Given the description of an element on the screen output the (x, y) to click on. 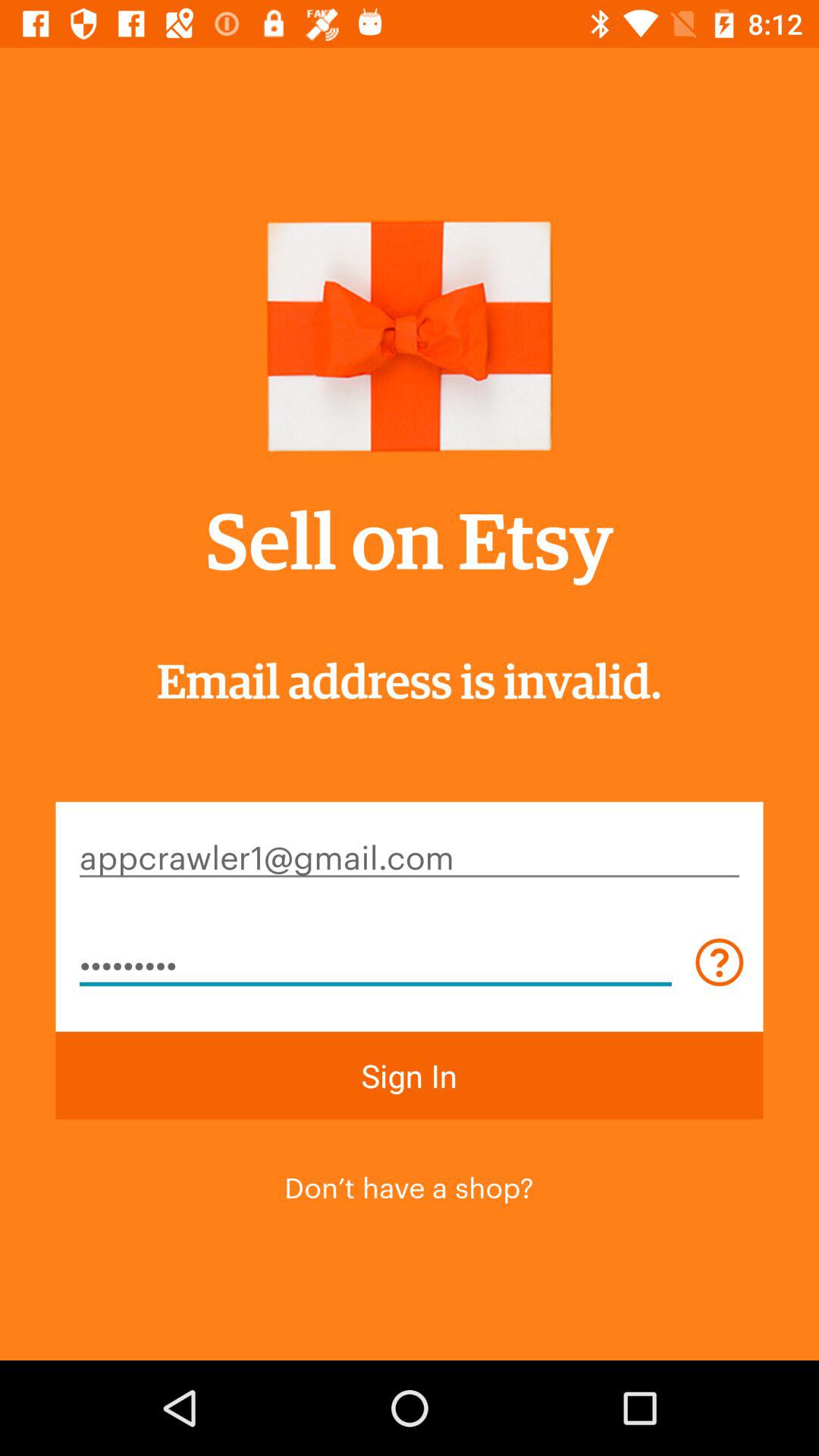
launch the icon above the crowd3116 item (409, 854)
